Given the description of an element on the screen output the (x, y) to click on. 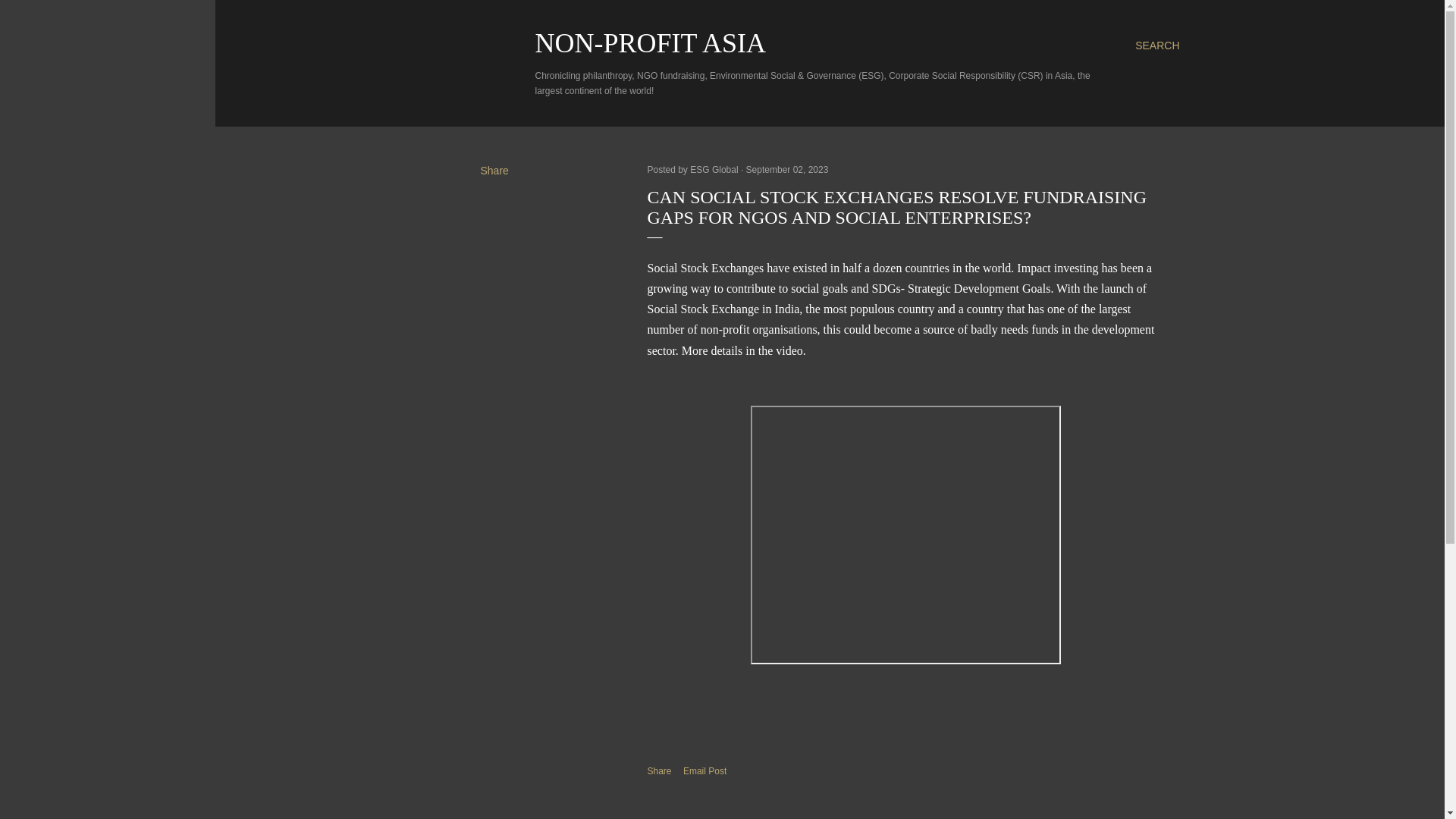
September 02, 2023 (786, 169)
author profile (715, 169)
permanent link (786, 169)
NON-PROFIT ASIA (650, 42)
Share (494, 170)
Email Post (704, 771)
SEARCH (1157, 45)
ESG Global (715, 169)
Share (659, 770)
